Given the description of an element on the screen output the (x, y) to click on. 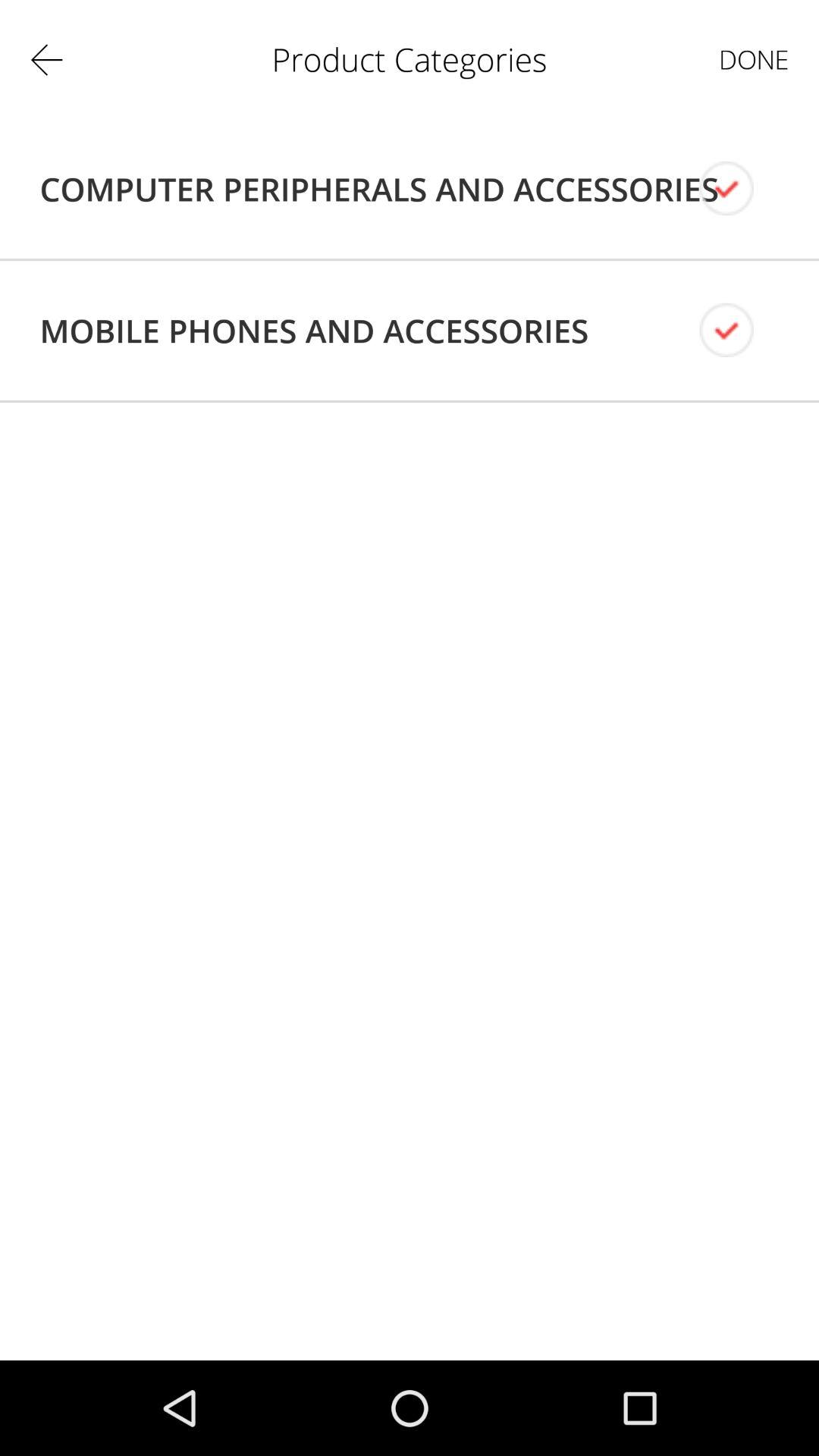
flip until mobile phones and item (313, 330)
